Given the description of an element on the screen output the (x, y) to click on. 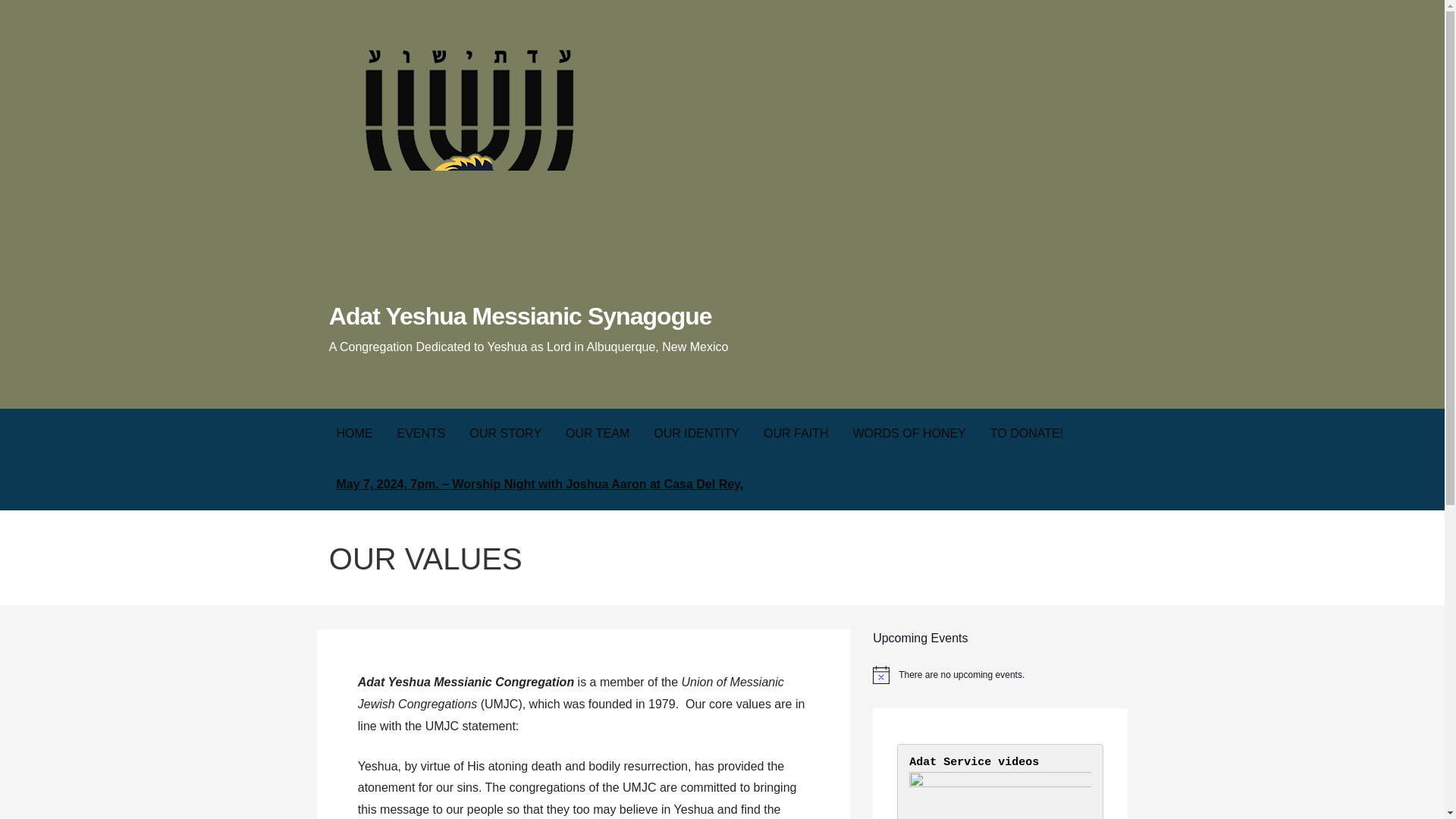
Adat Yeshua Messianic Synagogue (520, 316)
EVENTS (421, 433)
Adat Service videos (973, 762)
OUR TEAM (597, 433)
WORDS OF HONEY (908, 433)
OUR STORY (506, 433)
OUR FAITH (795, 433)
TO DONATE! (1026, 433)
OUR IDENTITY (696, 433)
HOME (354, 433)
